Given the description of an element on the screen output the (x, y) to click on. 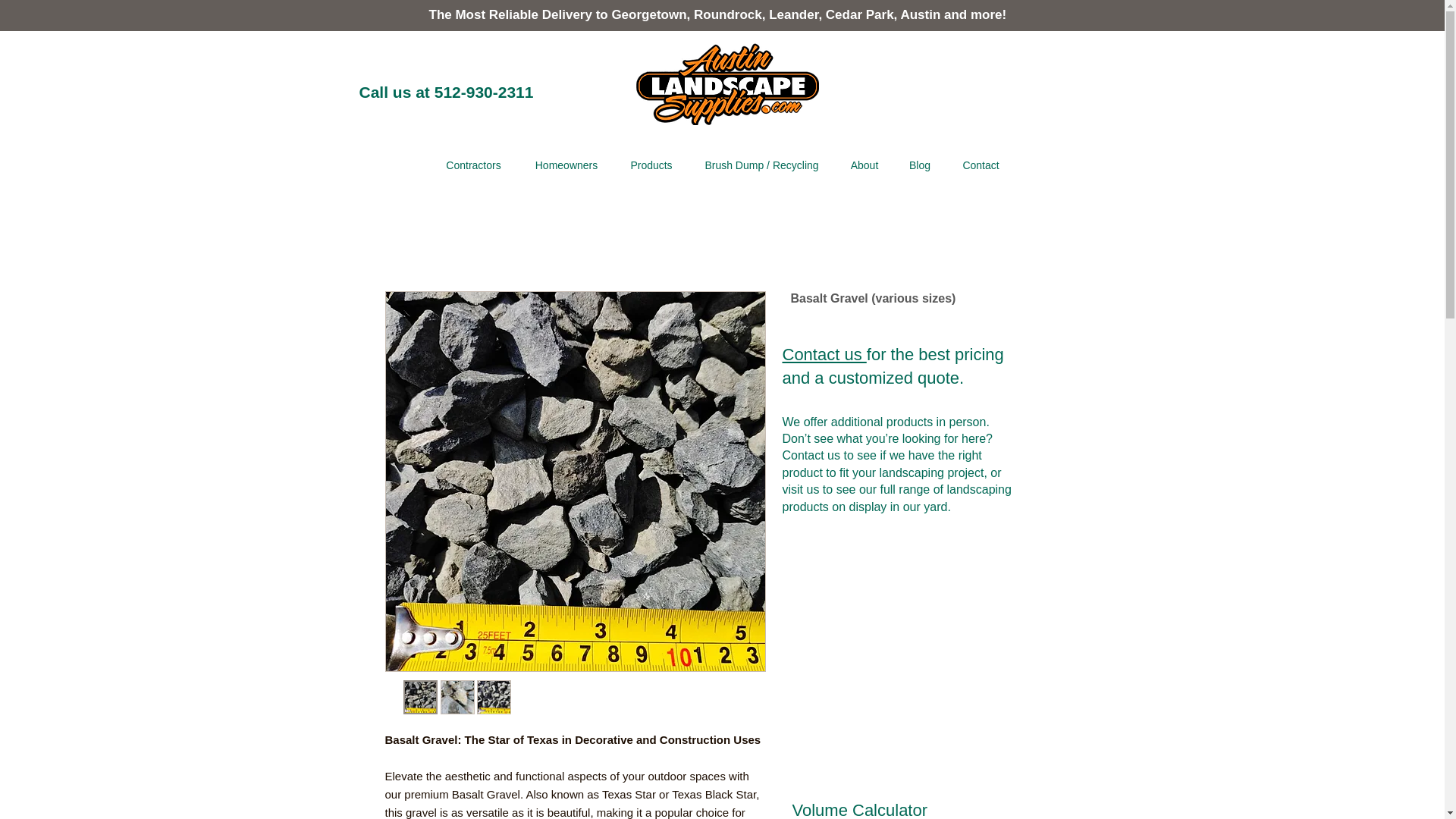
Homeowners (566, 165)
Contact us (824, 353)
Contractors (473, 165)
als-logo-2x.png (726, 82)
Products (650, 165)
Contact (981, 165)
About (864, 165)
Blog (918, 165)
for the best pricing and a customized quote. (893, 365)
